Given the description of an element on the screen output the (x, y) to click on. 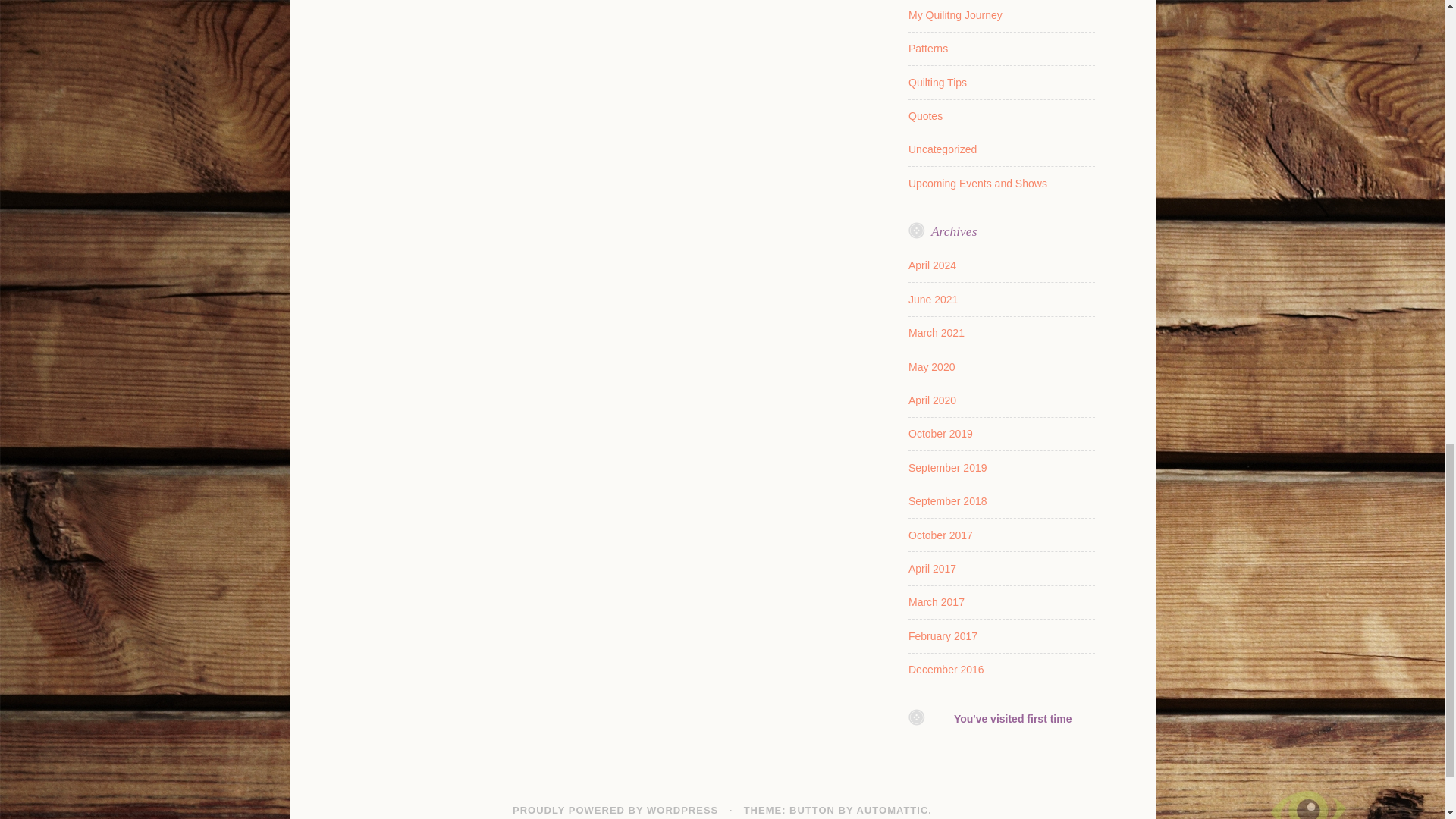
Uncategorized (942, 149)
Quilting Tips (937, 82)
April 2024 (932, 265)
Patterns (927, 48)
Quotes (925, 115)
June 2021 (933, 299)
Upcoming Events and Shows (977, 183)
March 2021 (935, 332)
My Quilitng Journey (955, 15)
